Given the description of an element on the screen output the (x, y) to click on. 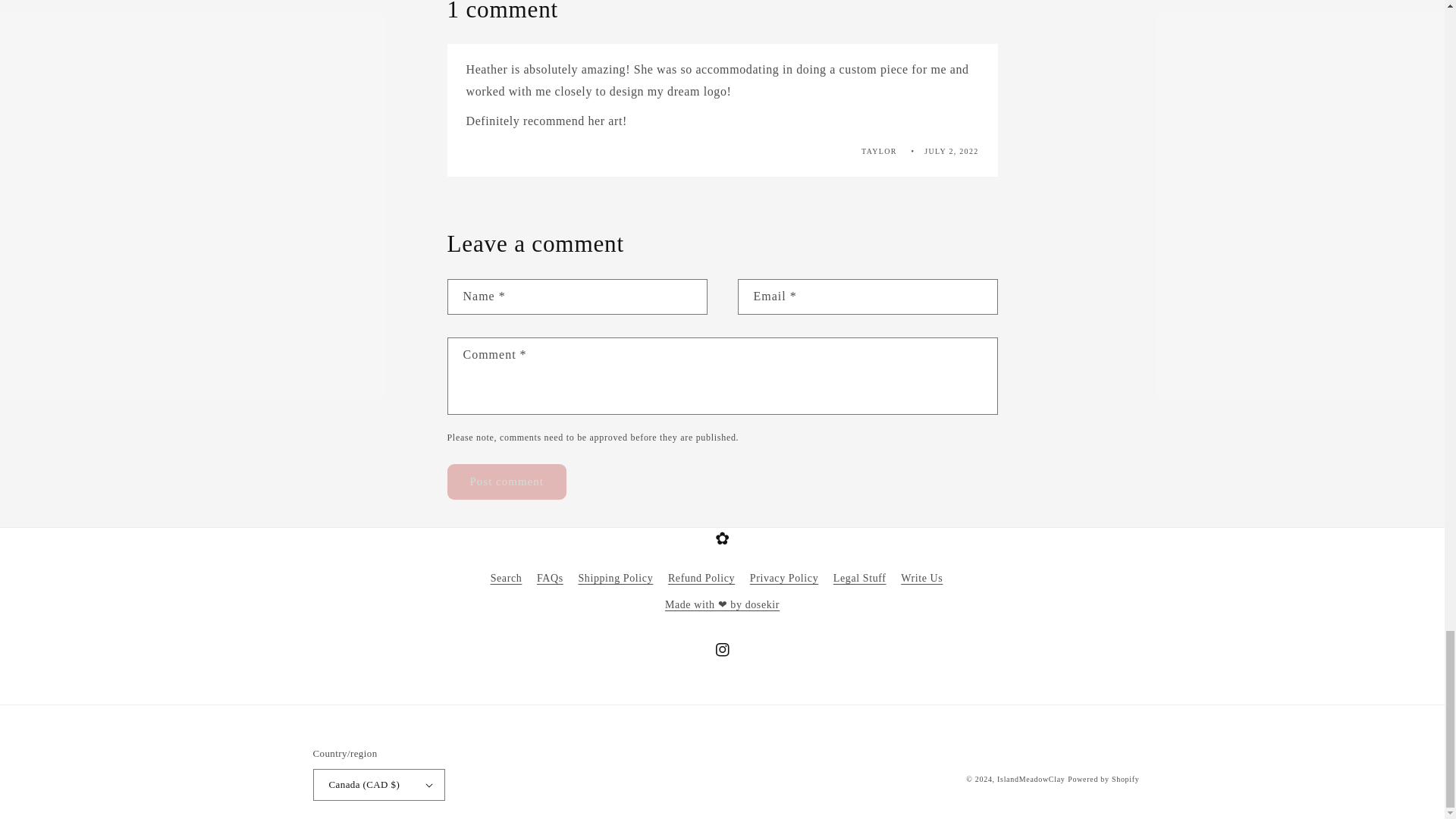
Legal Stuff (859, 578)
Post comment (506, 481)
Refund Policy (701, 578)
Privacy Policy (783, 578)
Search (506, 579)
FAQs (550, 578)
Post comment (506, 481)
Shipping Policy (615, 578)
